Given the description of an element on the screen output the (x, y) to click on. 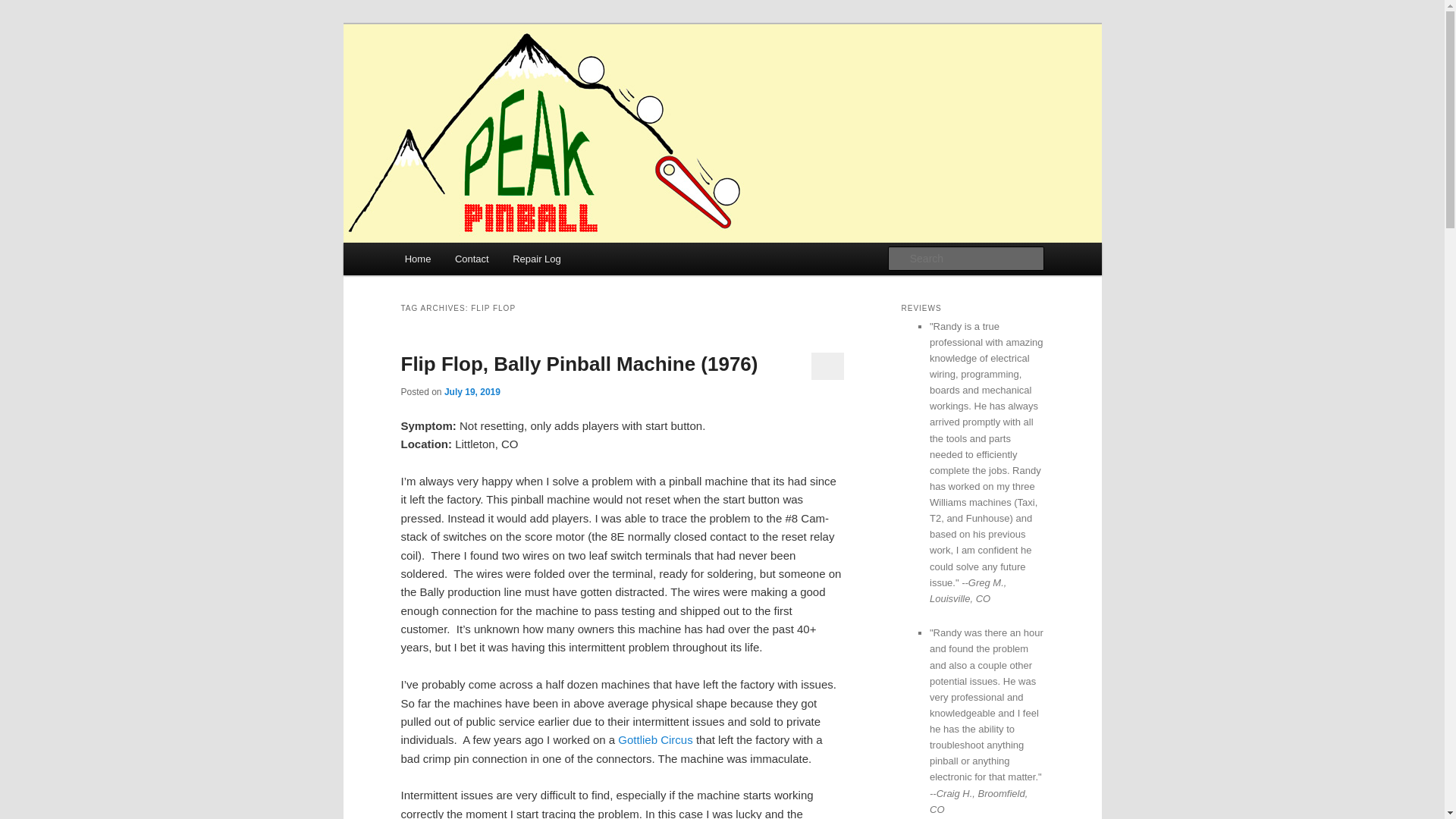
Home (417, 258)
Search (24, 8)
July 19, 2019 (472, 391)
6:44 pm (472, 391)
Contact (471, 258)
Repair Log (536, 258)
Peak Pinball (467, 78)
Gottlieb Circus (655, 739)
